Given the description of an element on the screen output the (x, y) to click on. 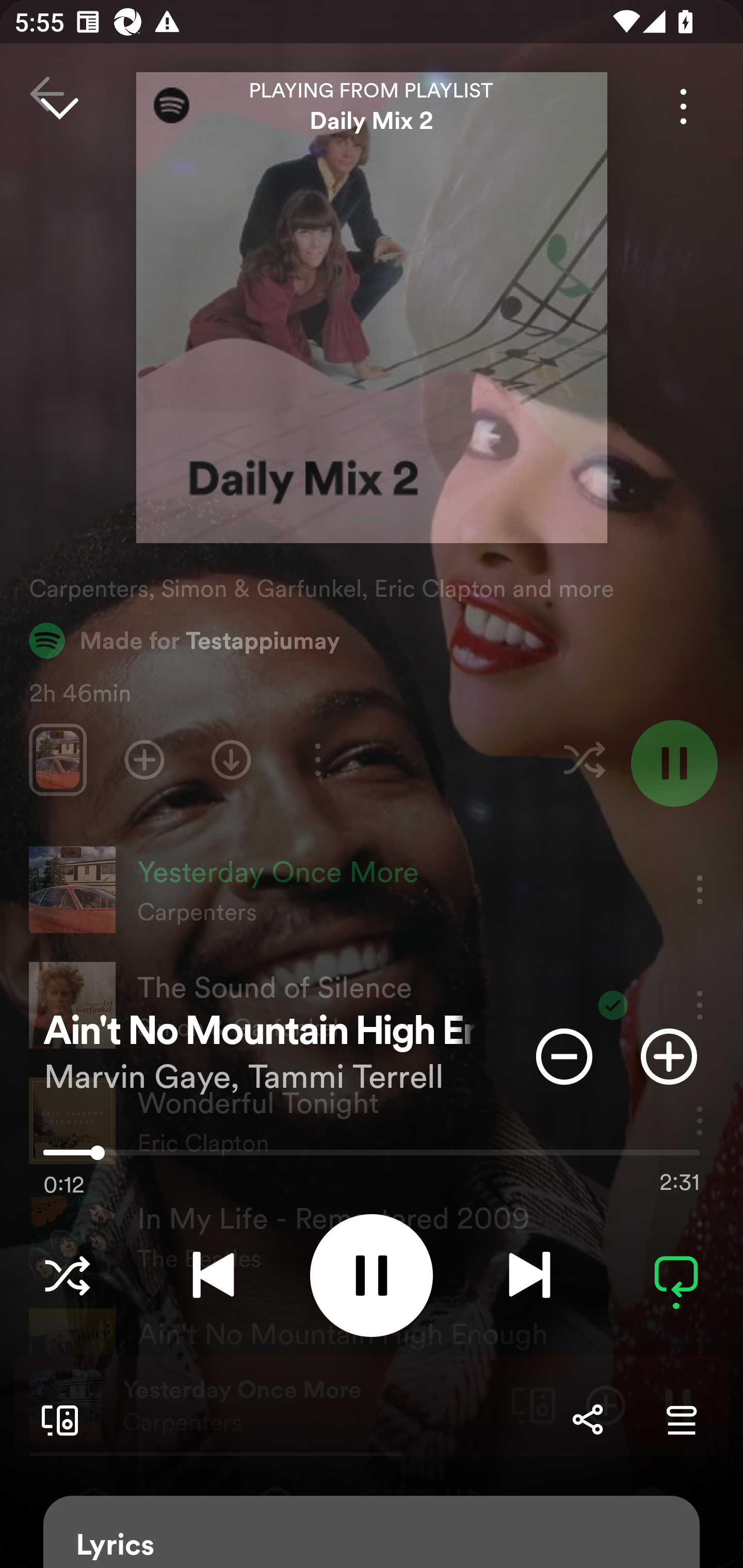
Close (59, 106)
PLAYING FROM PLAYLIST Daily Mix 2 (371, 106)
Don't play this (564, 1056)
Add item (669, 1056)
0:12 2:31 12397.0 Use volume keys to adjust (371, 1157)
Pause (371, 1275)
Previous (212, 1275)
Next (529, 1275)
Shuffle tracks (66, 1275)
Repeat (676, 1275)
Share (587, 1419)
Go to Queue (681, 1419)
Connect to a device. Opens the devices menu (55, 1419)
Lyrics (371, 1531)
